Given the description of an element on the screen output the (x, y) to click on. 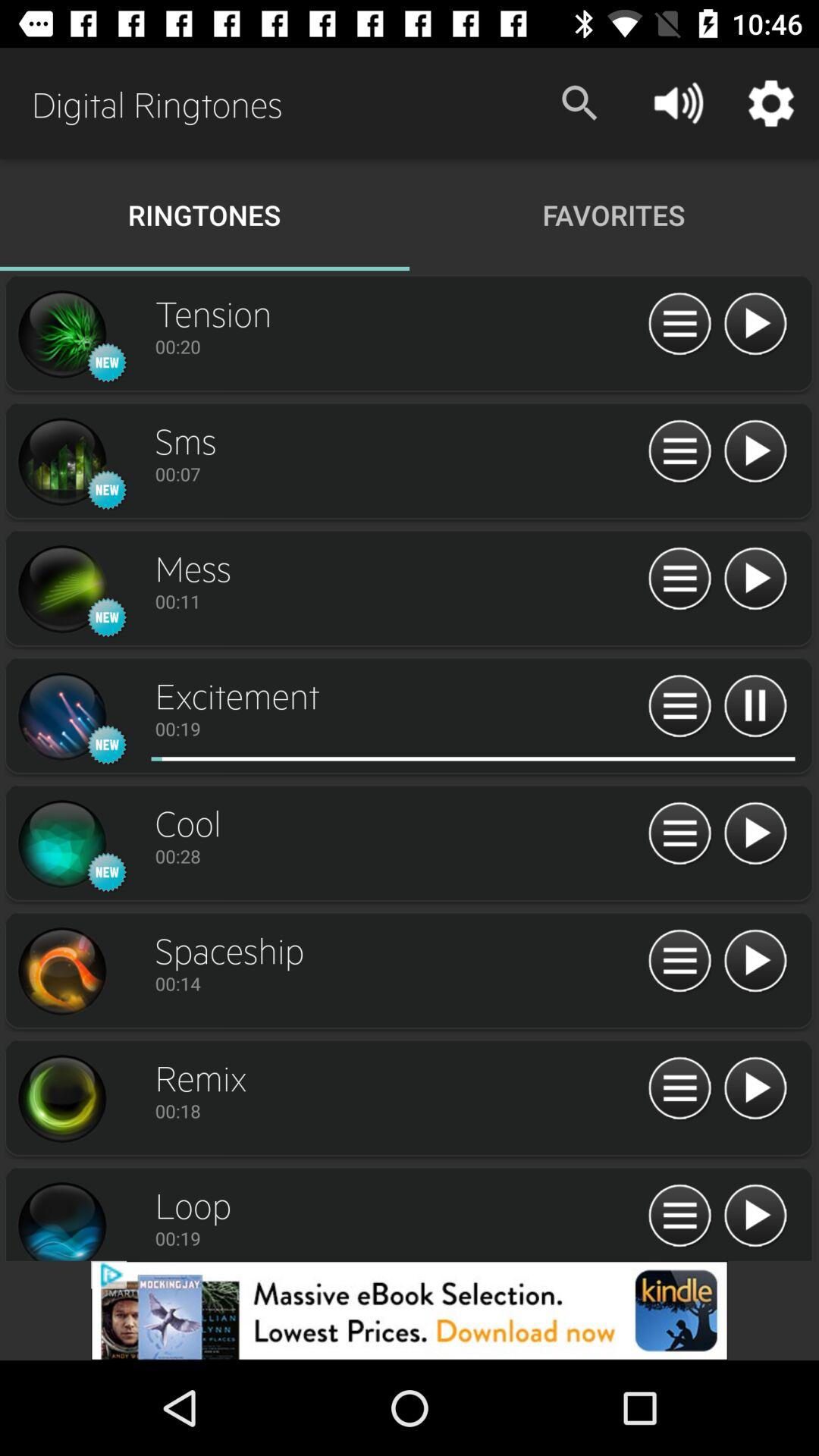
advertisement page (409, 1310)
